Given the description of an element on the screen output the (x, y) to click on. 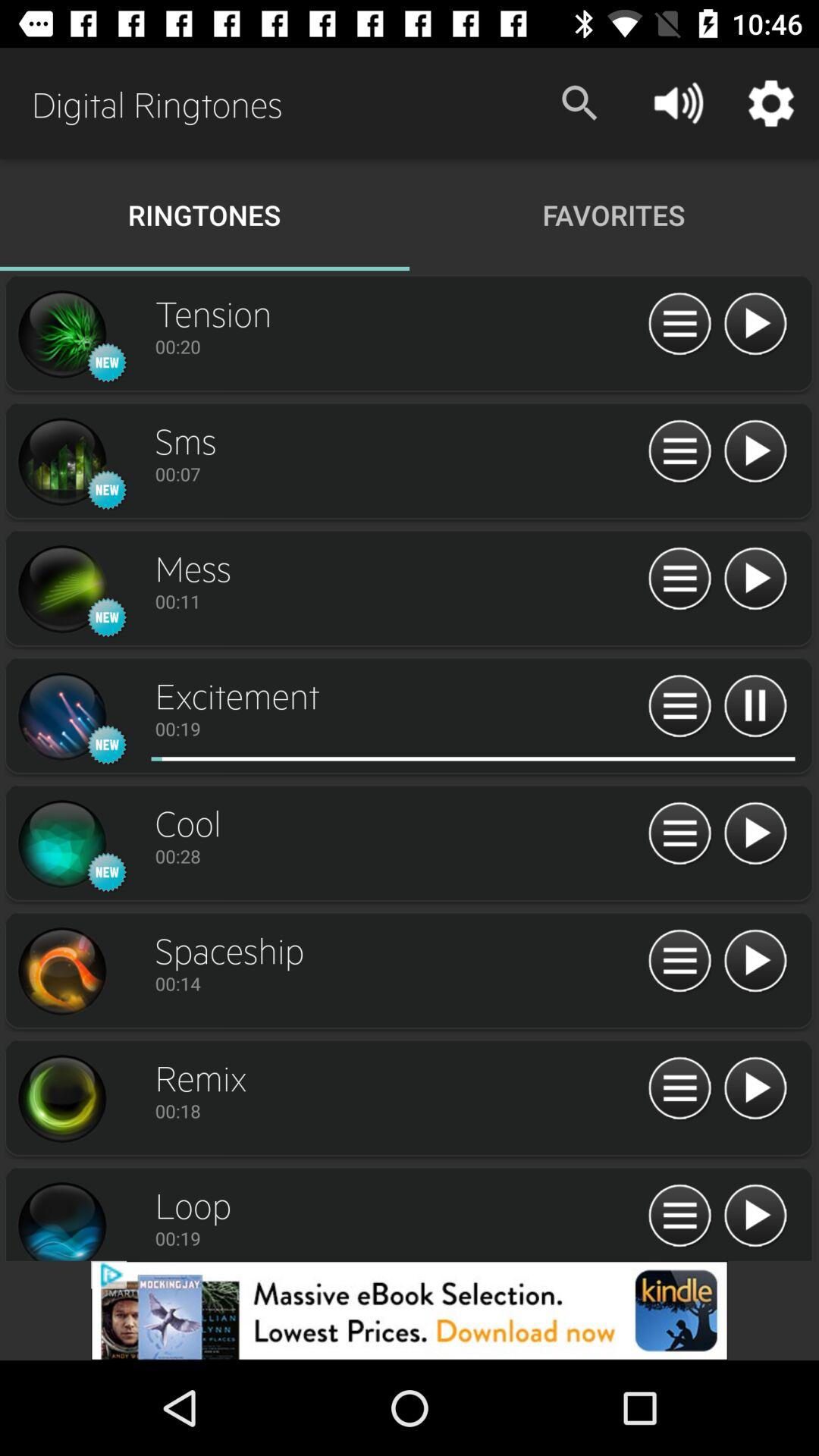
advertisement page (409, 1310)
